Given the description of an element on the screen output the (x, y) to click on. 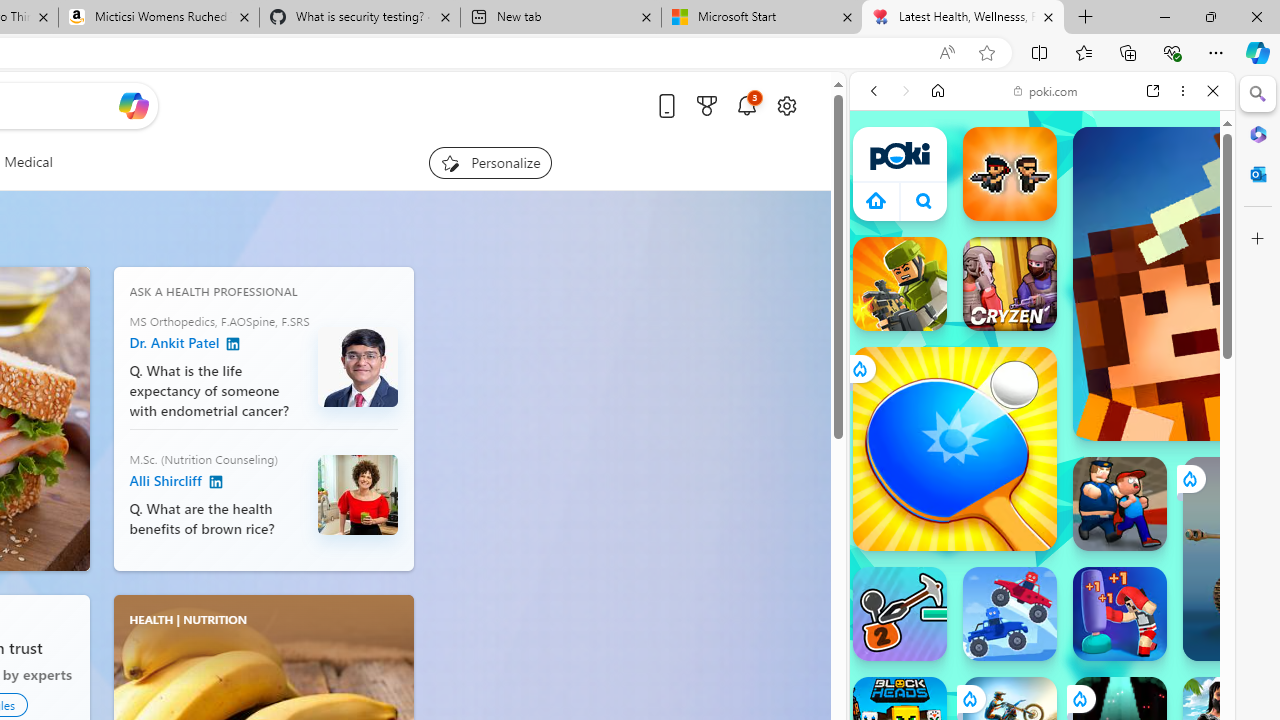
Kour.io (899, 283)
Poki - Free Online Games - Play Now! (1034, 309)
Shooting Games (1042, 519)
Battle Wheels Battle Wheels (1009, 613)
Zombie Rush Zombie Rush (1009, 173)
Show More Shooting Games (1164, 521)
